Given the description of an element on the screen output the (x, y) to click on. 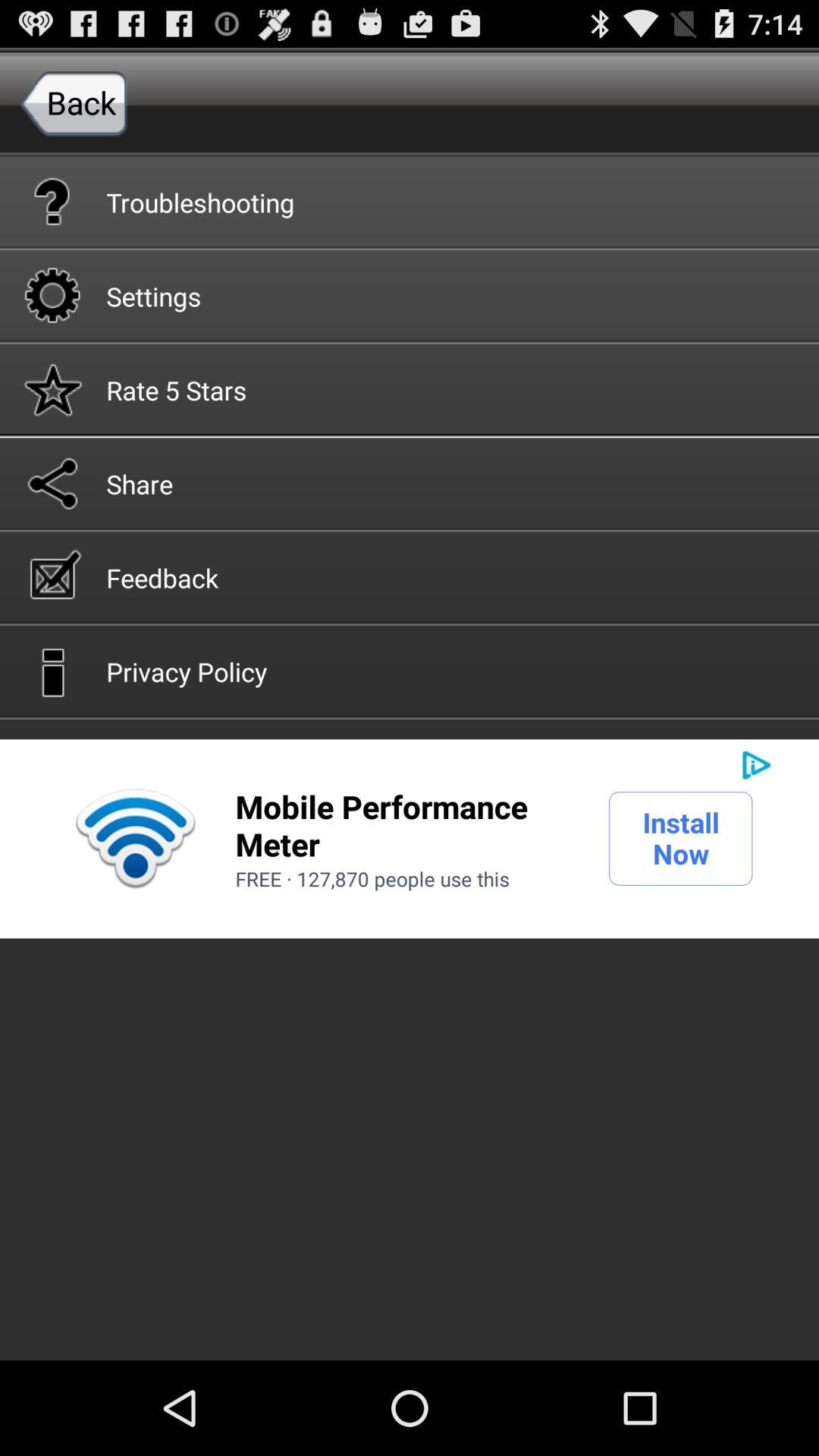
turn on item next to mobile performance meter icon (135, 838)
